Given the description of an element on the screen output the (x, y) to click on. 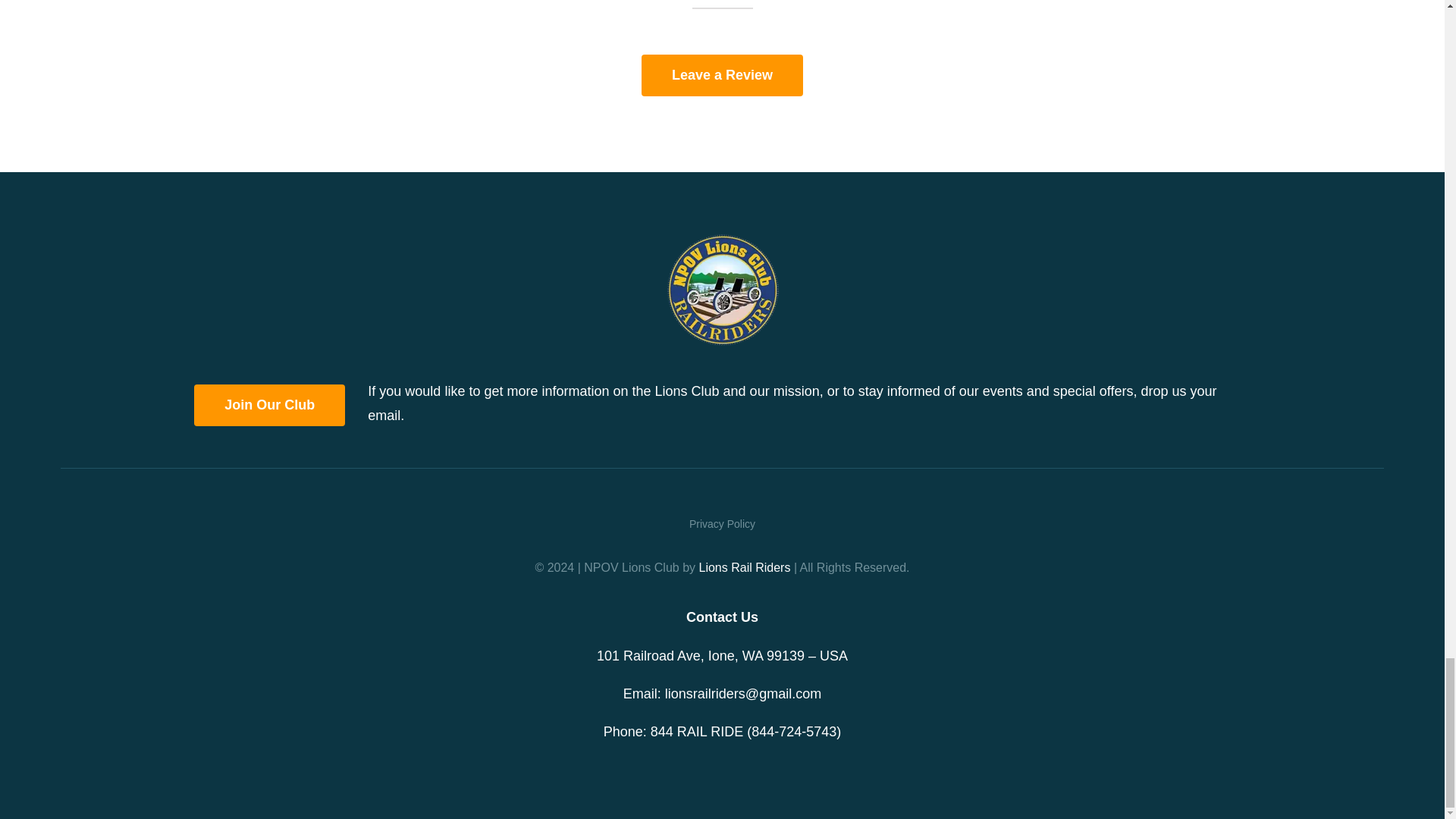
Join Our Club (269, 404)
Leave a Review (722, 75)
Lions Rail Riders (744, 567)
Privacy Policy (721, 524)
